Given the description of an element on the screen output the (x, y) to click on. 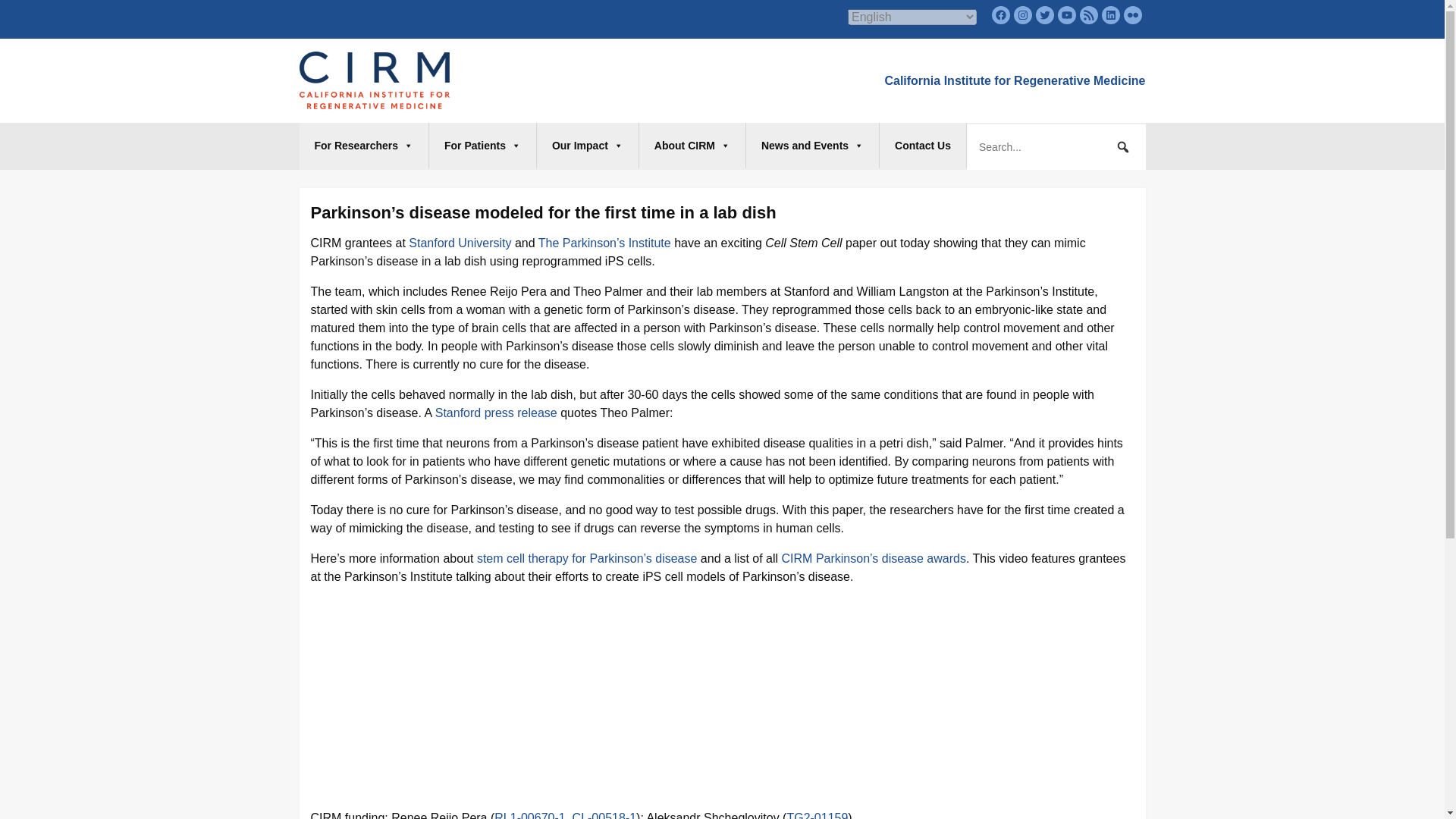
For Researchers (363, 145)
YouTube video player (462, 694)
